Given the description of an element on the screen output the (x, y) to click on. 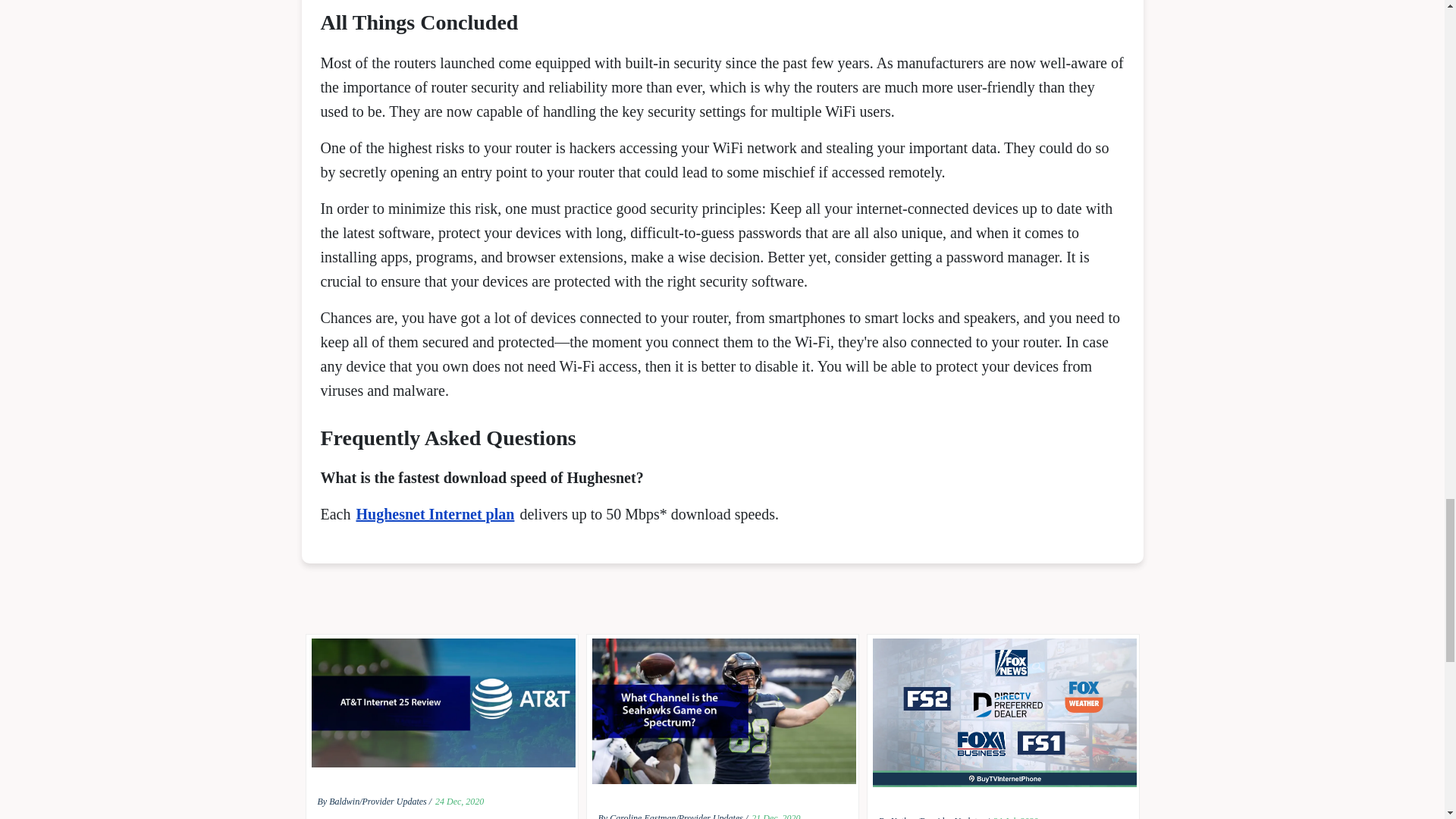
Hughesnet Internet plan (434, 514)
